Given the description of an element on the screen output the (x, y) to click on. 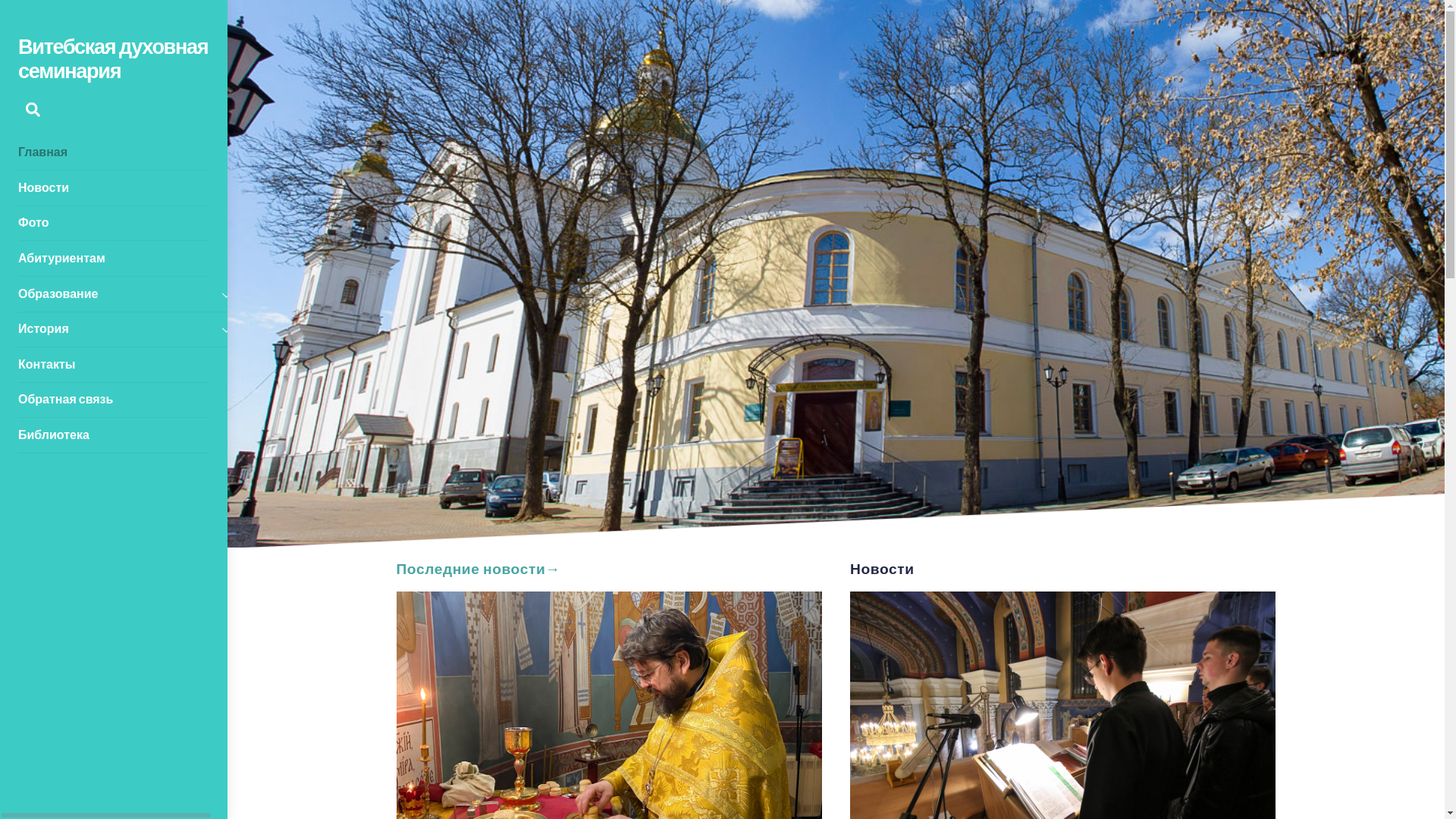
Seminary_panorama1 Element type: hover (835, 273)
